Given the description of an element on the screen output the (x, y) to click on. 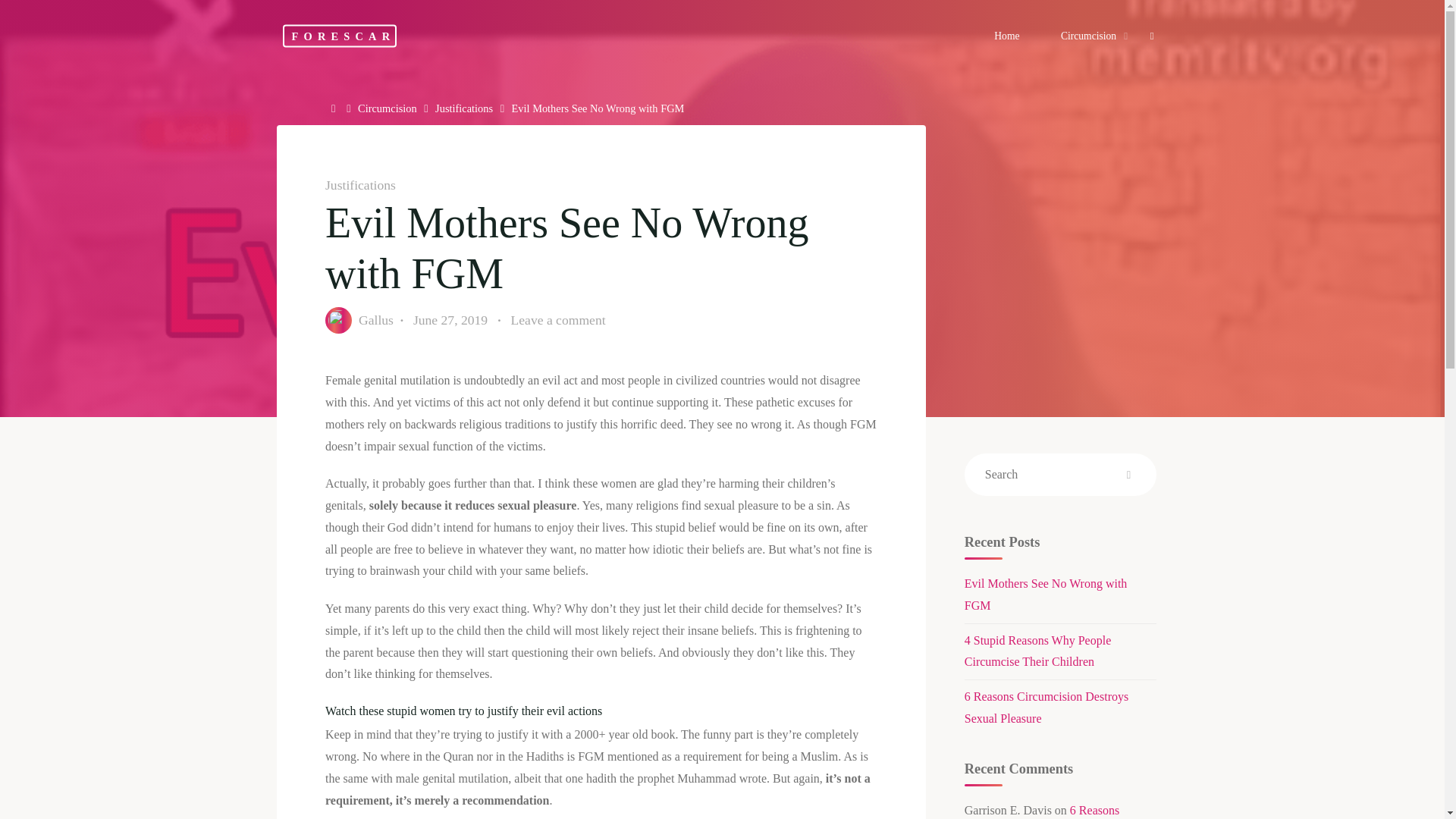
6 Reasons Circumcision Destroys Sexual Pleasure (1045, 707)
Beyond the tip of the scar (339, 35)
Justifications (464, 108)
Search (1128, 474)
Leave a comment (558, 319)
Home (334, 108)
4 Stupid Reasons Why People Circumcise Their Children (1036, 651)
View all posts by Gallus (375, 319)
Home (334, 108)
Circumcision (387, 108)
Justifications (359, 184)
6 Reasons Circumcision Destroys Sexual Pleasure (1041, 811)
FORESCAR (339, 35)
Circumcision (1091, 35)
Jump to comments (558, 320)
